Given the description of an element on the screen output the (x, y) to click on. 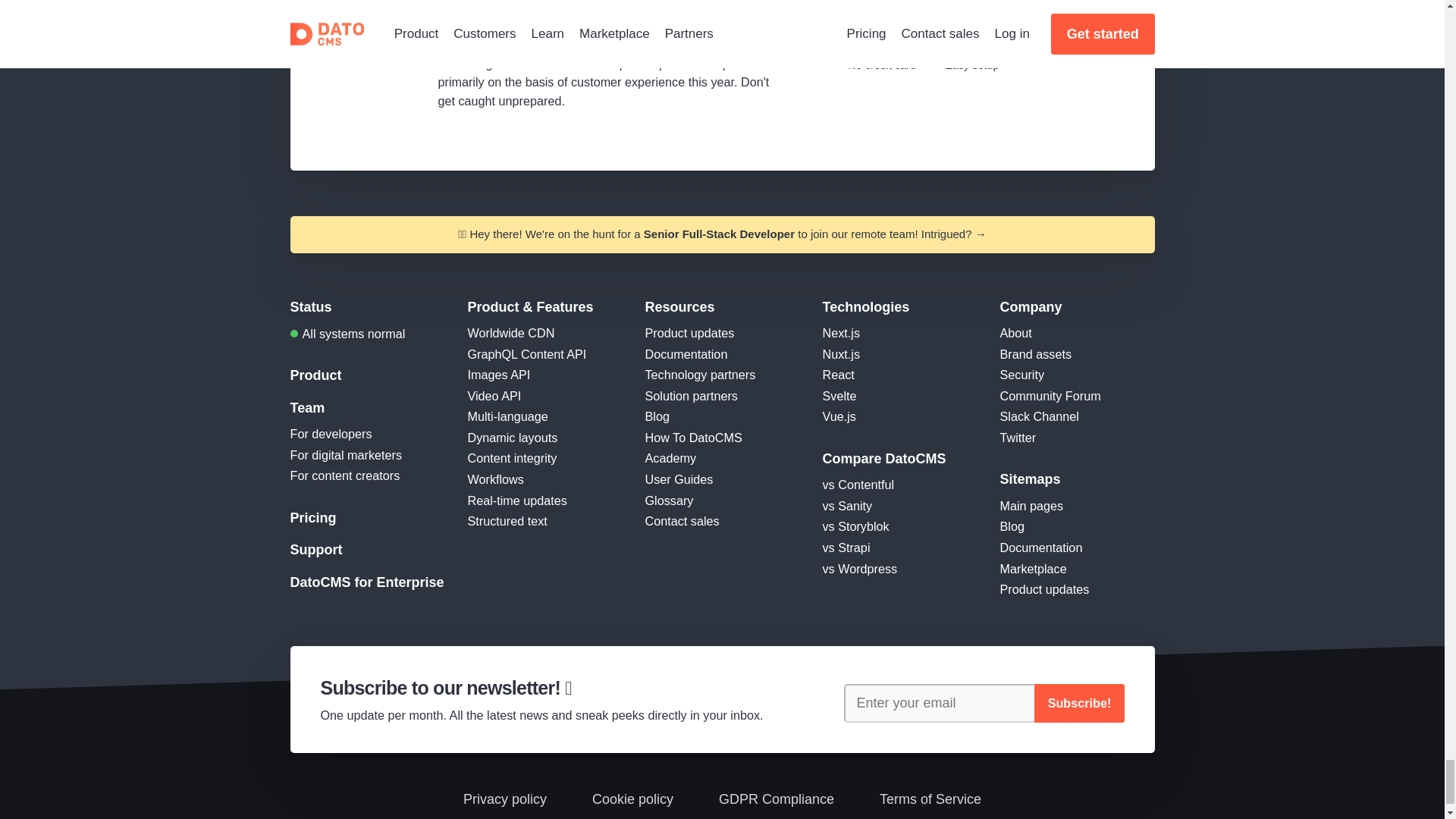
Fastest headless CMS (510, 332)
Video API (494, 395)
Headless CMS Graphql (526, 354)
Images API (498, 374)
Dynamic layouts CMS (512, 437)
Headless CMS multi language (507, 416)
Content integrity CMS (511, 458)
Workflow CMS (494, 479)
